Given the description of an element on the screen output the (x, y) to click on. 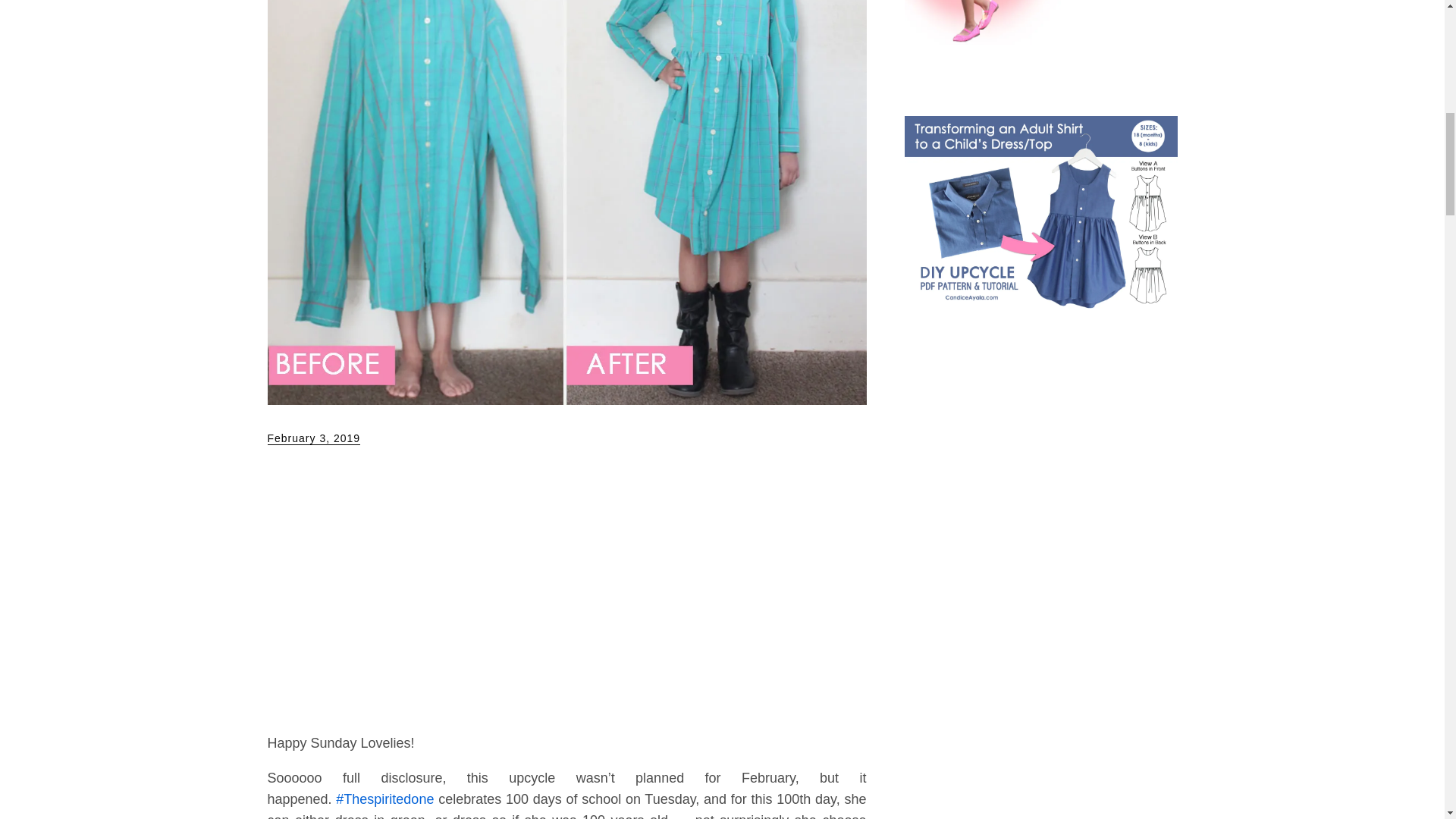
February 3, 2019 (312, 438)
